Given the description of an element on the screen output the (x, y) to click on. 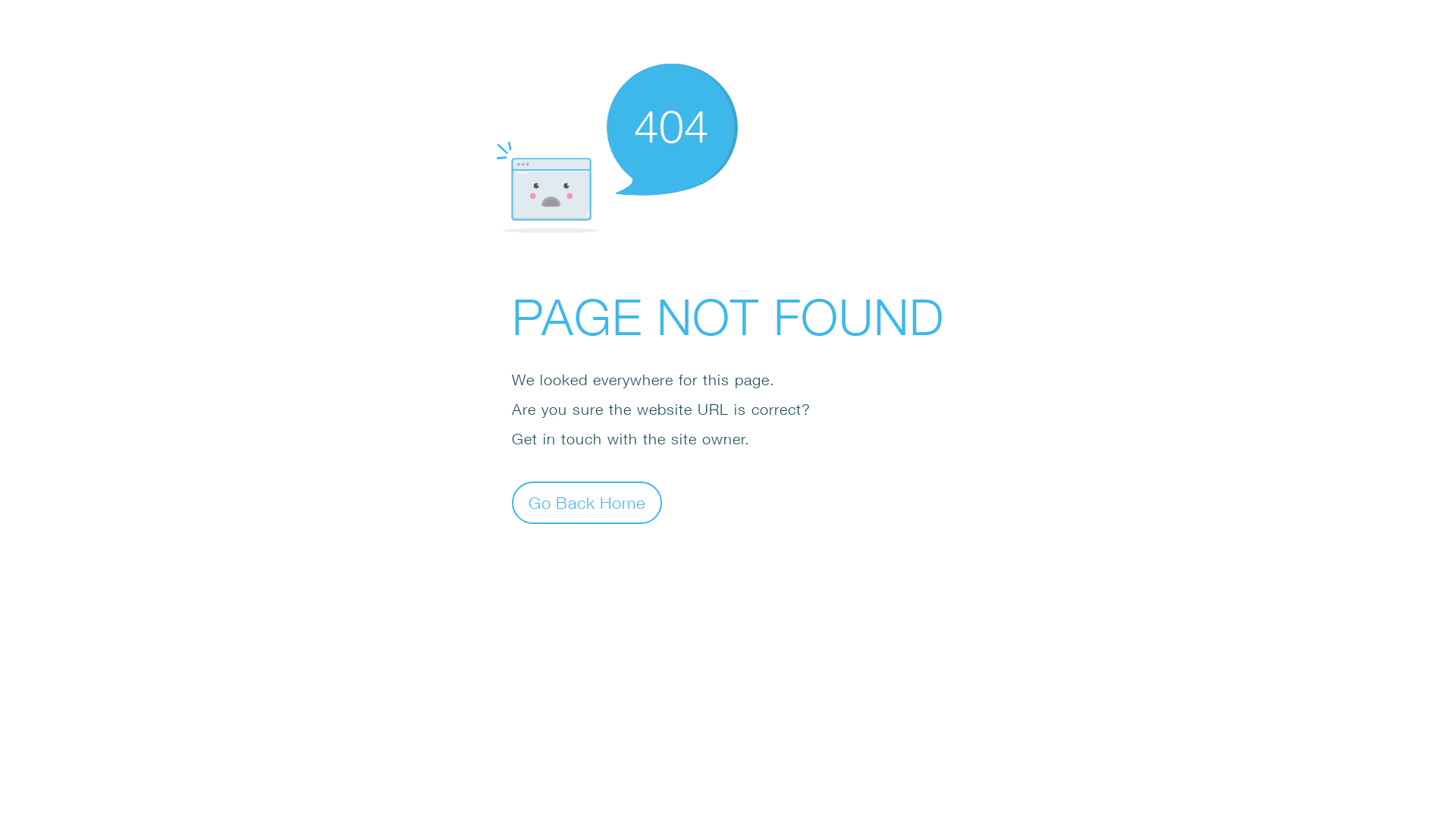
Go Back Home Element type: text (586, 502)
